Given the description of an element on the screen output the (x, y) to click on. 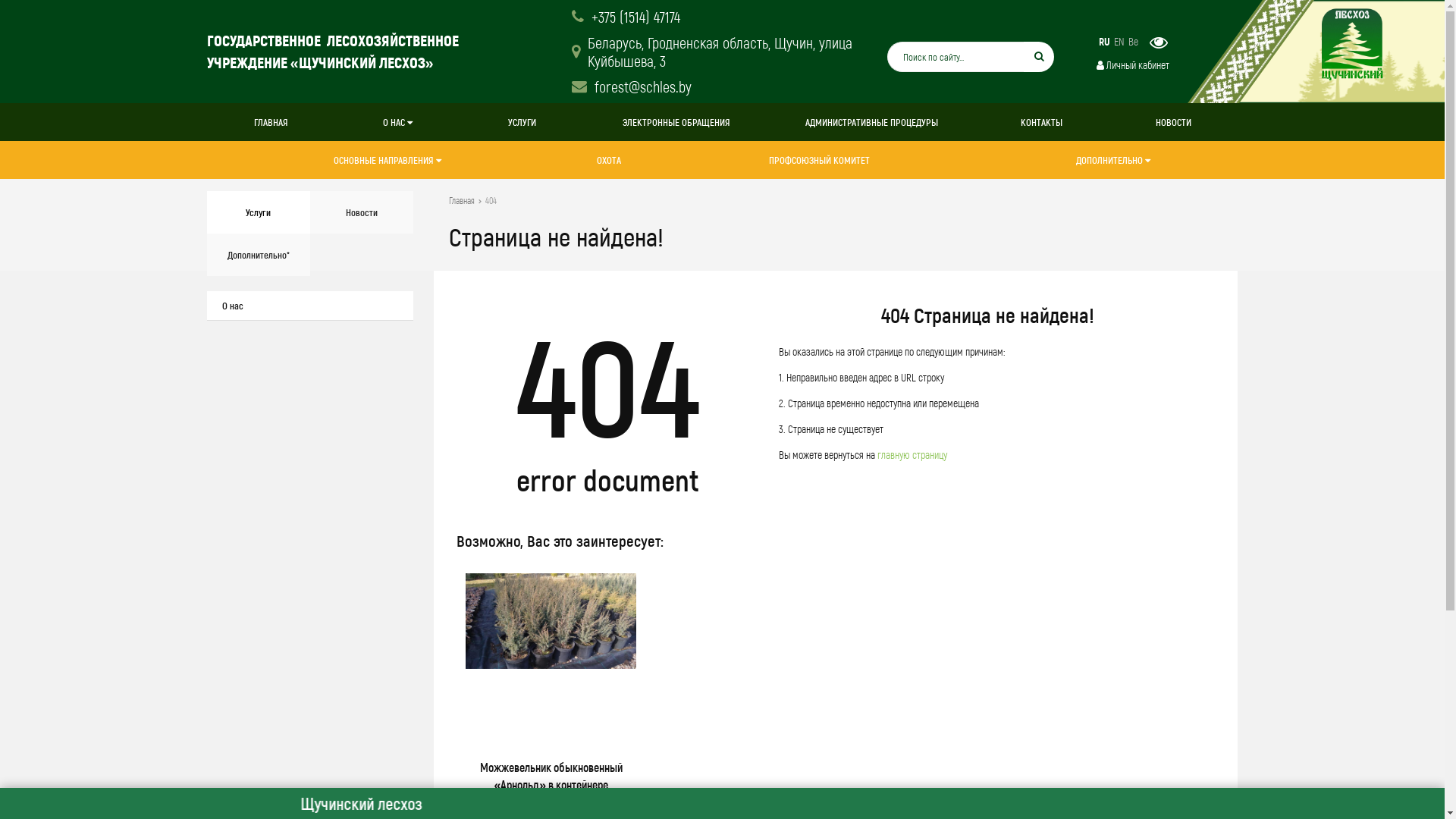
forest@schles.by Element type: text (631, 86)
RU Element type: text (1104, 41)
+375 (1514) 47174 Element type: text (625, 16)
Be Element type: text (1133, 41)
EN Element type: text (1118, 41)
